Given the description of an element on the screen output the (x, y) to click on. 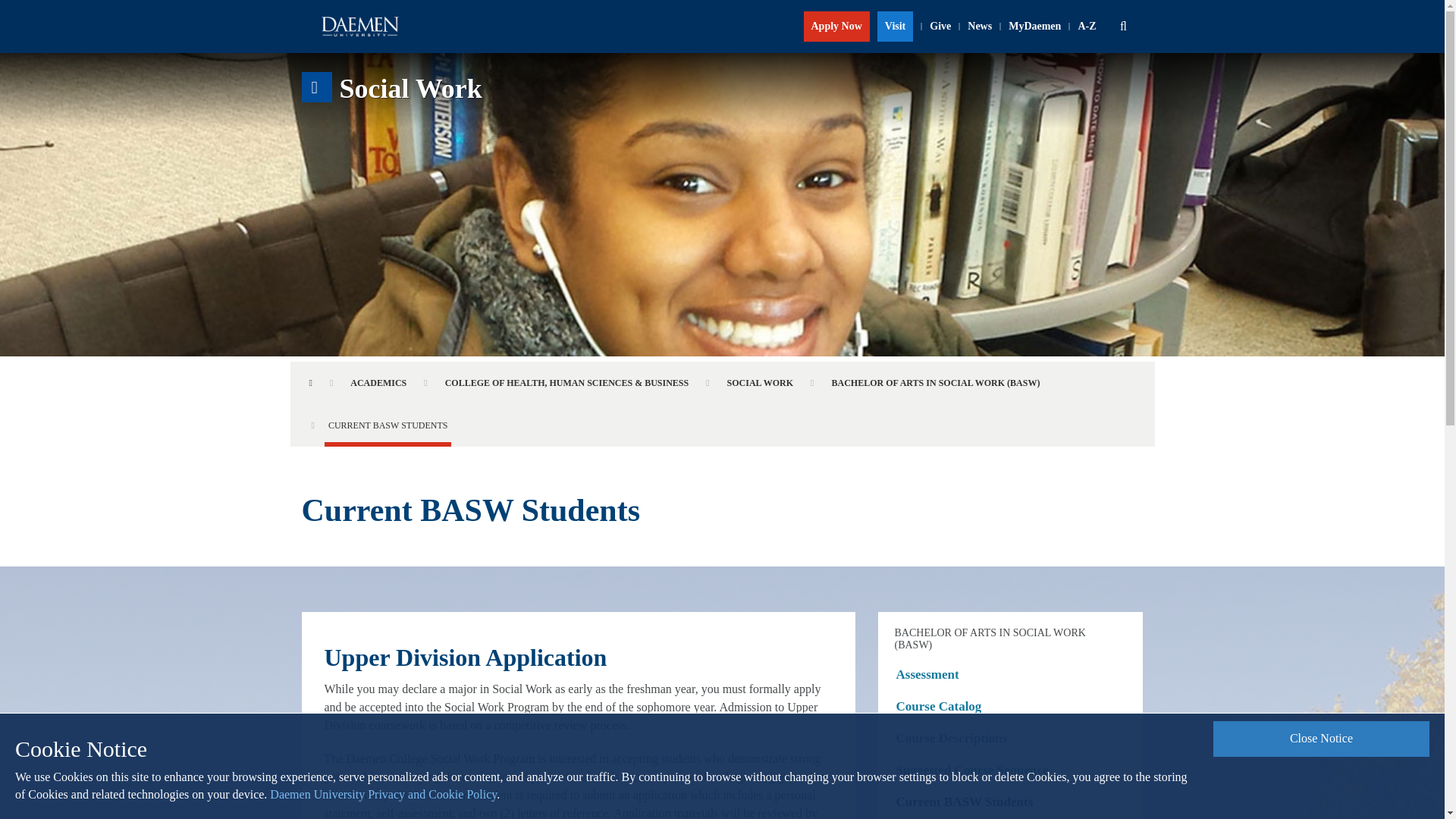
Visit (894, 26)
Search (1123, 26)
MyDaemen (1034, 26)
A-Z (1086, 26)
Apply Now (836, 26)
Give (939, 26)
News (978, 26)
